Given the description of an element on the screen output the (x, y) to click on. 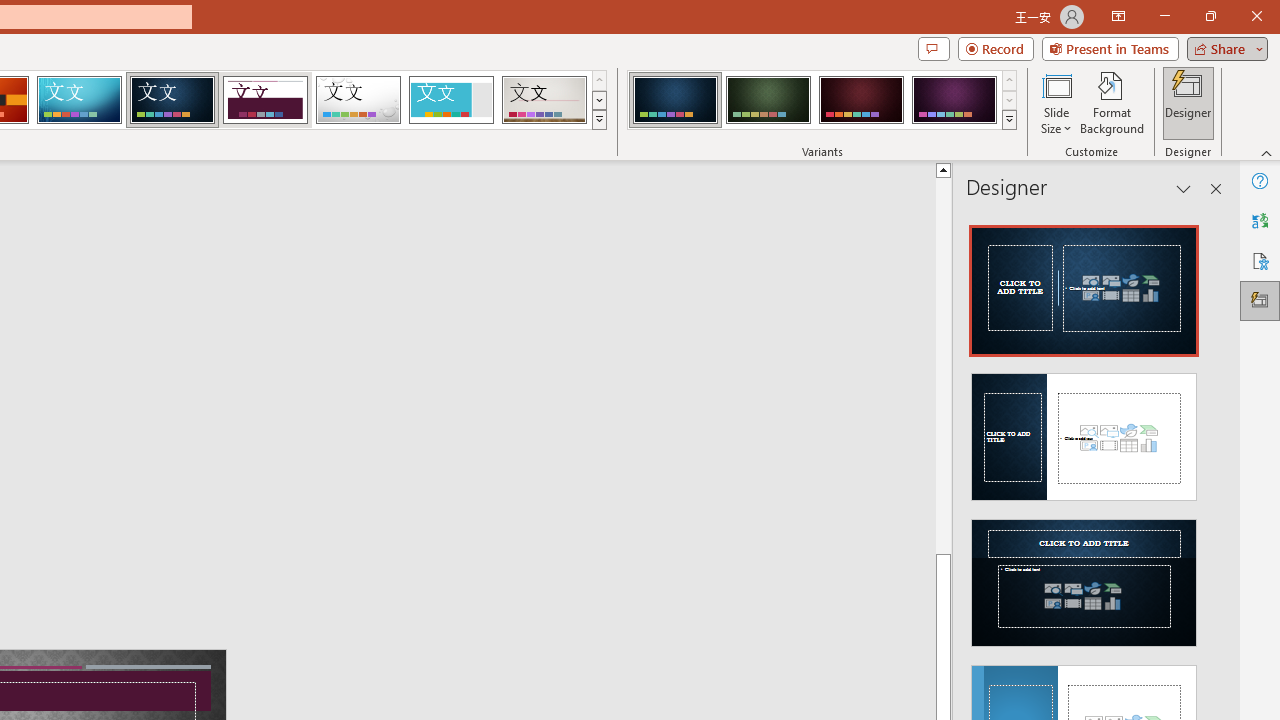
AutomationID: ThemeVariantsGallery (822, 99)
Damask Variant 1 (674, 100)
Design Idea (1083, 576)
Damask Variant 2 (768, 100)
Slide Size (1056, 102)
Damask (171, 100)
Dividend (247, 173)
Droplet (358, 100)
Page up (943, 364)
Present in Teams (1109, 48)
